Given the description of an element on the screen output the (x, y) to click on. 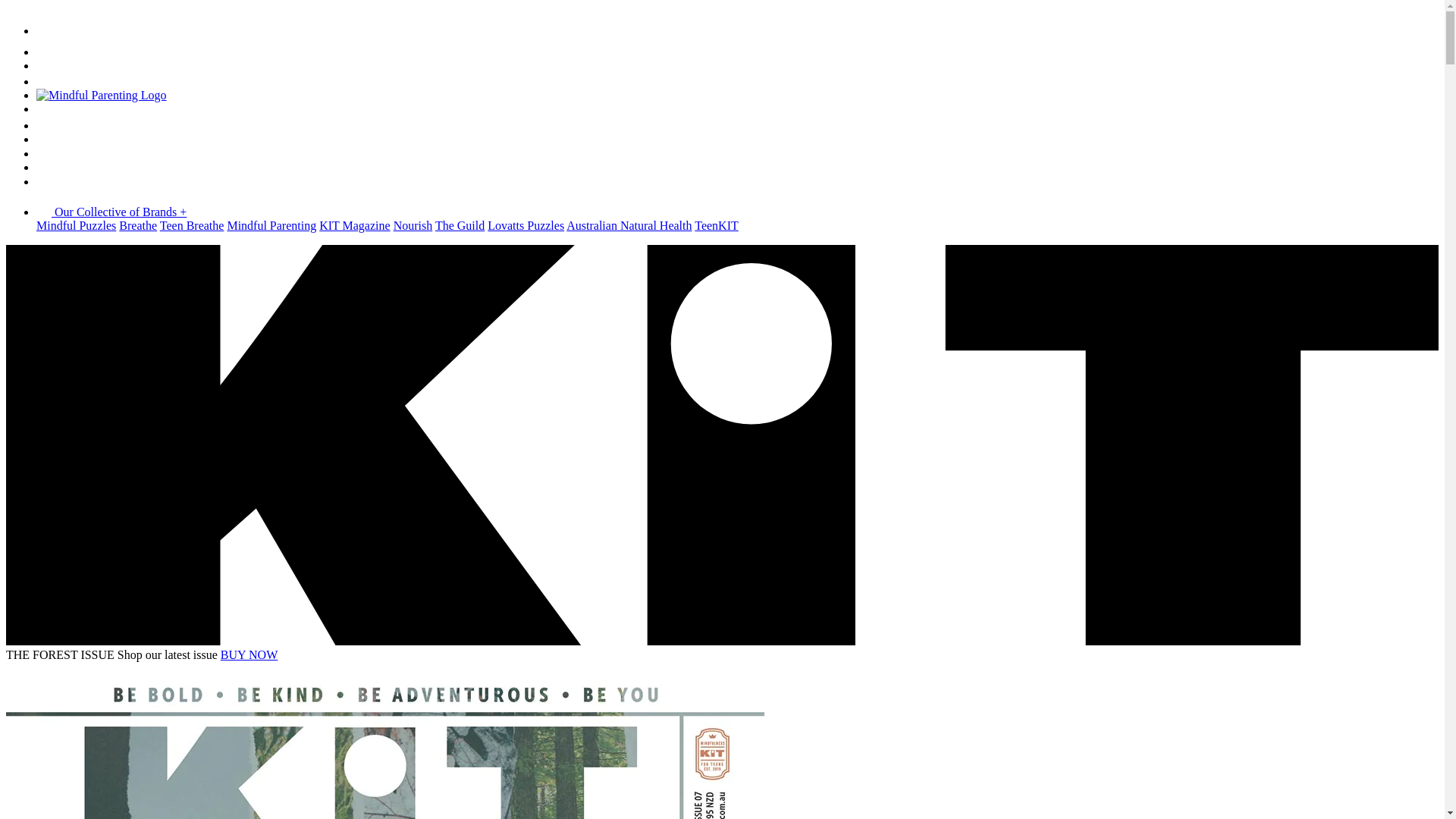
Our Collective of Brands + Element type: text (111, 211)
TeenKIT Element type: text (716, 225)
Lovatts Puzzles Element type: text (525, 225)
Mindful Puzzles Element type: text (76, 225)
Teen Breathe Element type: text (192, 225)
Australian Natural Health Element type: text (628, 225)
The Guild Element type: text (459, 225)
KIT Magazine Element type: text (354, 225)
Mindful Parenting Element type: text (271, 225)
Nourish Element type: text (413, 225)
Skip to content Element type: text (5, 244)
BUY NOW Element type: text (248, 654)
Breathe Element type: text (137, 225)
